Given the description of an element on the screen output the (x, y) to click on. 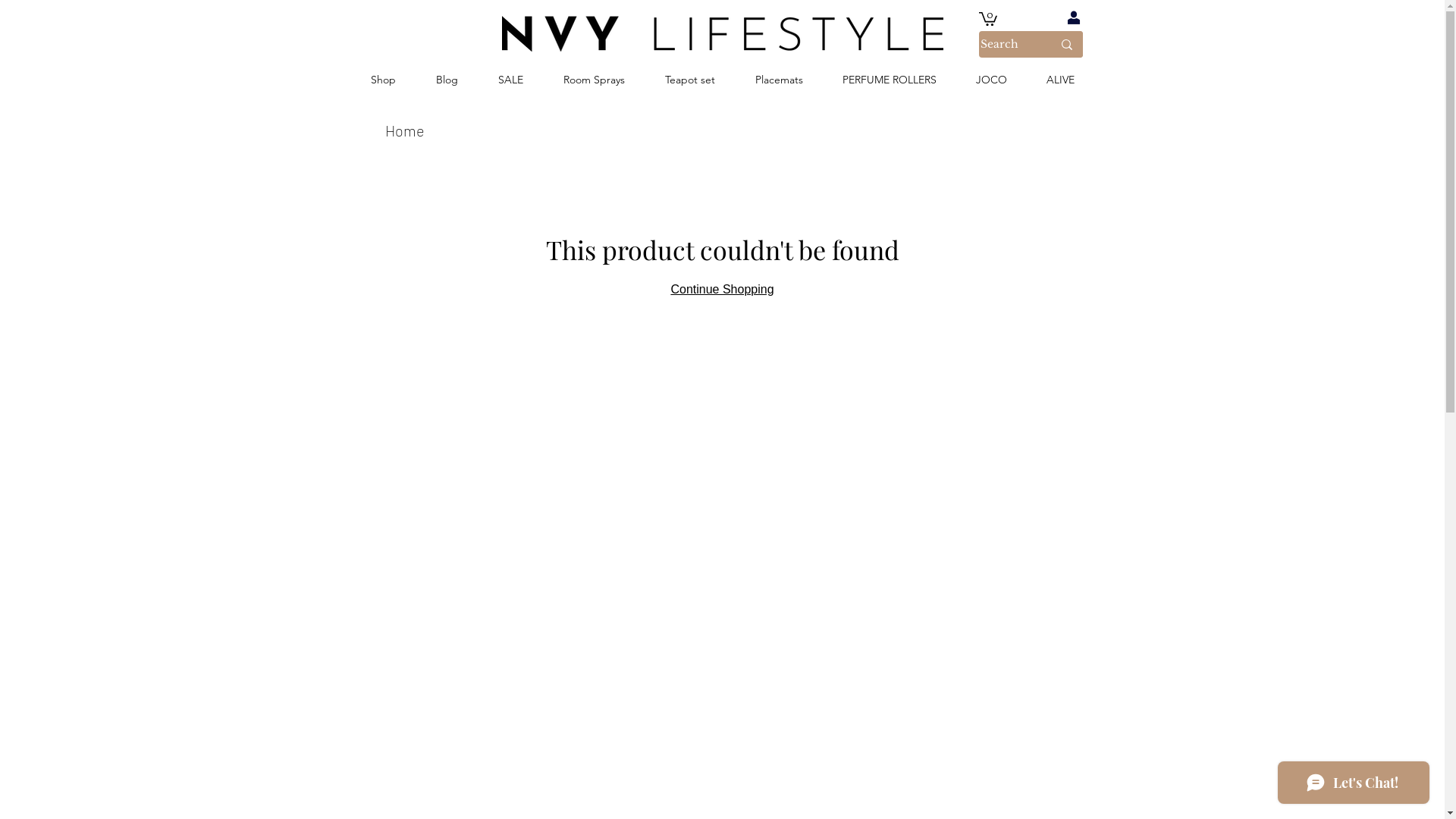
JOCO Element type: text (990, 79)
Home Element type: text (404, 130)
PERFUME ROLLERS Element type: text (888, 79)
0 Element type: text (987, 17)
Continue Shopping Element type: text (721, 288)
Room Sprays Element type: text (593, 79)
ALIVE Element type: text (1060, 79)
SALE Element type: text (509, 79)
Placemats Element type: text (778, 79)
Teapot set Element type: text (689, 79)
Blog Element type: text (446, 79)
